Given the description of an element on the screen output the (x, y) to click on. 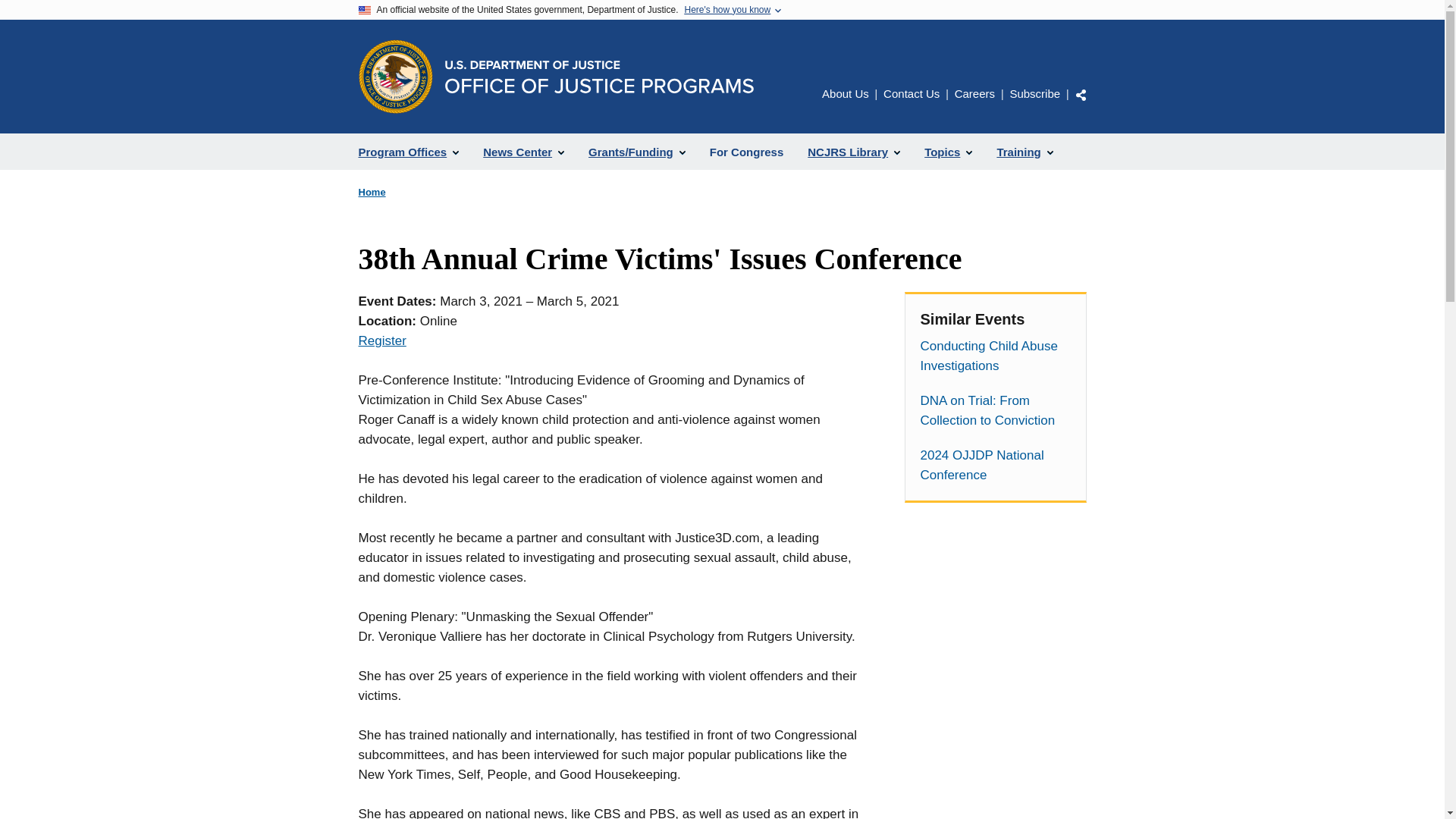
2024 OJJDP National Conference (995, 465)
Topics (948, 151)
Subscribe (1034, 93)
Conducting Child Abuse Investigations (995, 355)
Conducting Child Abuse Investigations (995, 355)
Careers (974, 93)
Program Offices (408, 151)
Here's how you know (727, 9)
Home (371, 192)
News Center (523, 151)
